Given the description of an element on the screen output the (x, y) to click on. 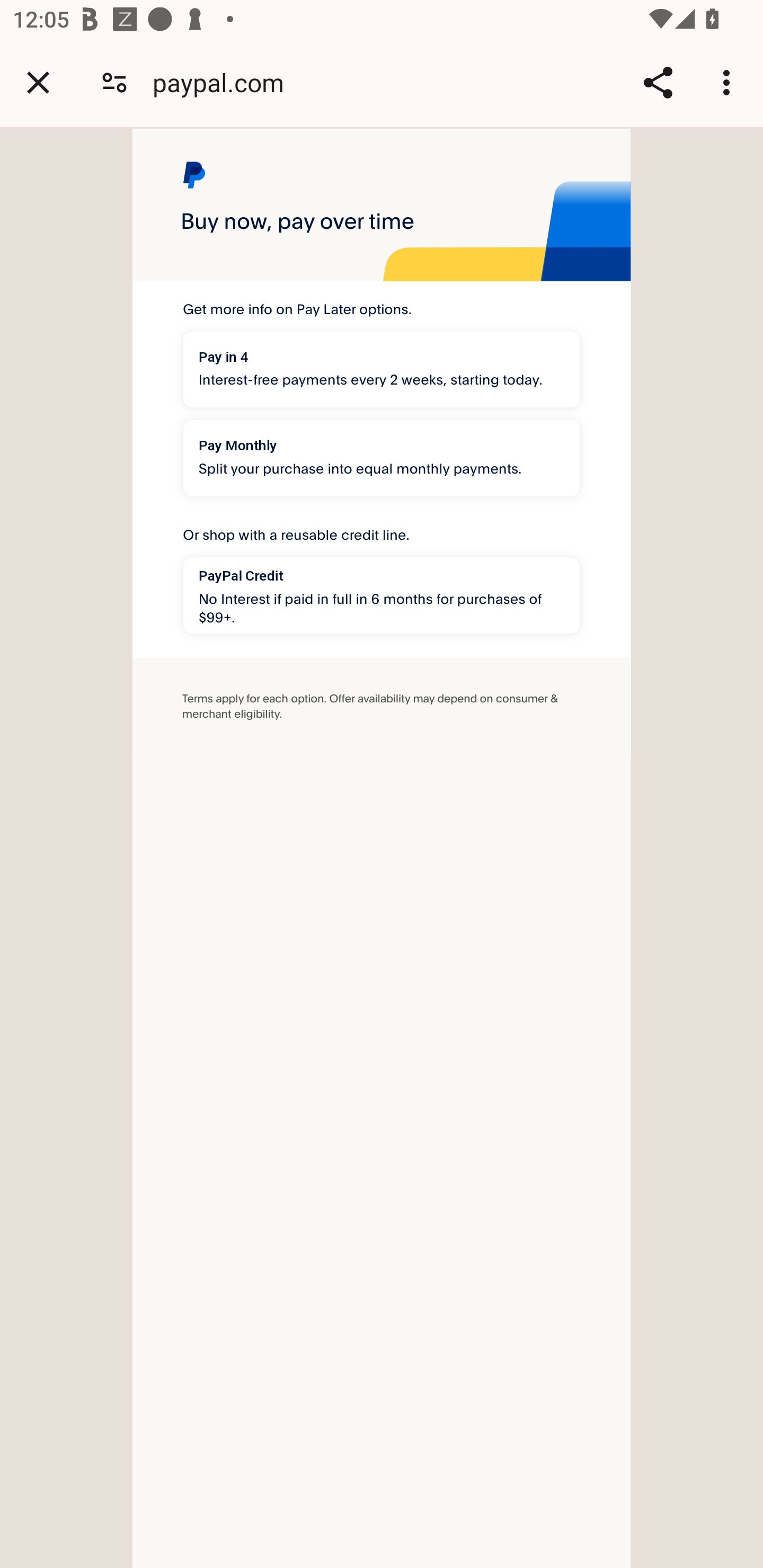
Close tab (38, 82)
Share (657, 82)
Customize and control Google Chrome (729, 82)
Connection is secure (114, 81)
paypal.com (224, 81)
